Given the description of an element on the screen output the (x, y) to click on. 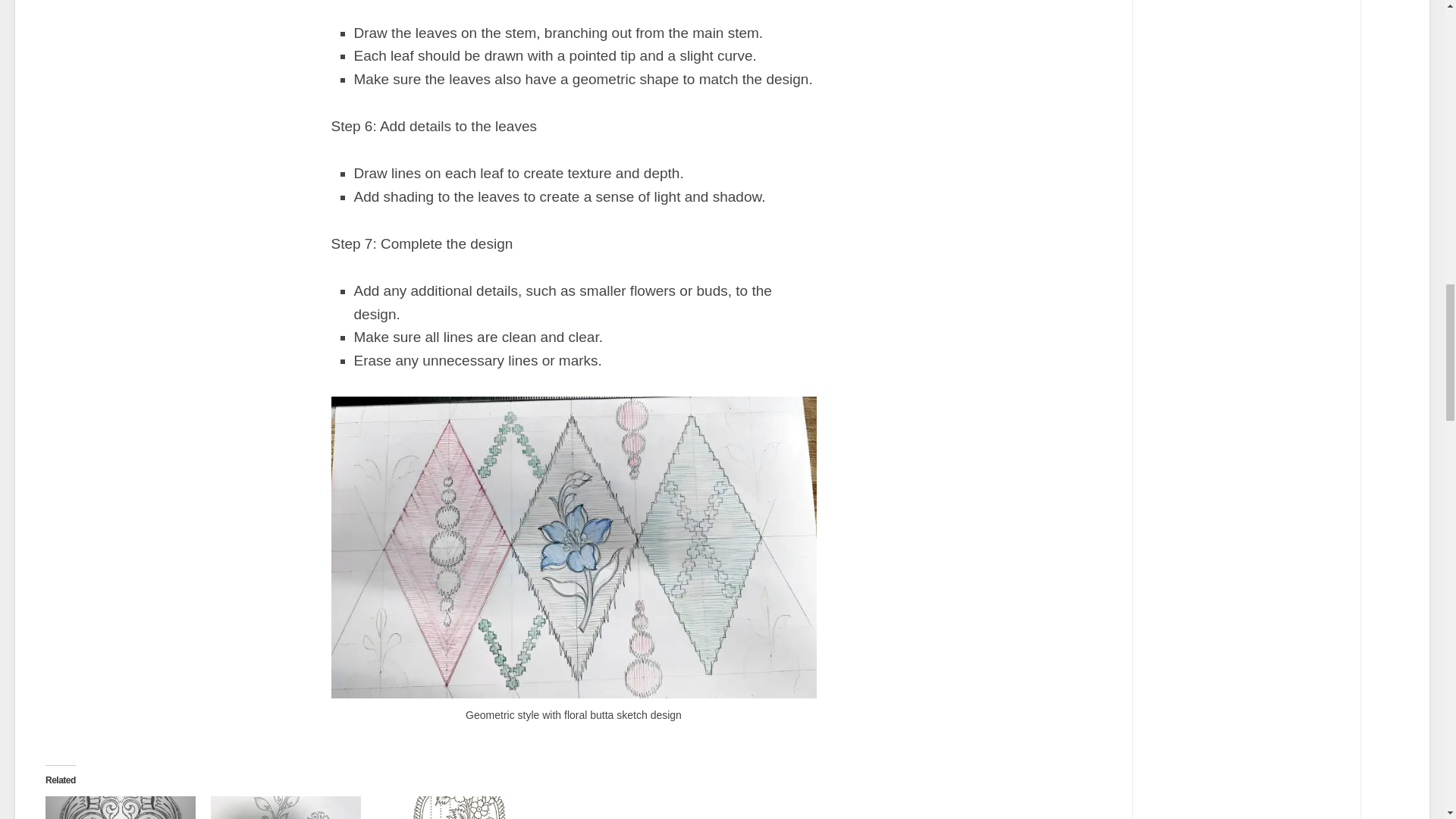
Banarasi border butta sketch design art (120, 807)
Big floral pallu style butta sketch design (450, 807)
Flower bunch butta sketch design (286, 807)
